Given the description of an element on the screen output the (x, y) to click on. 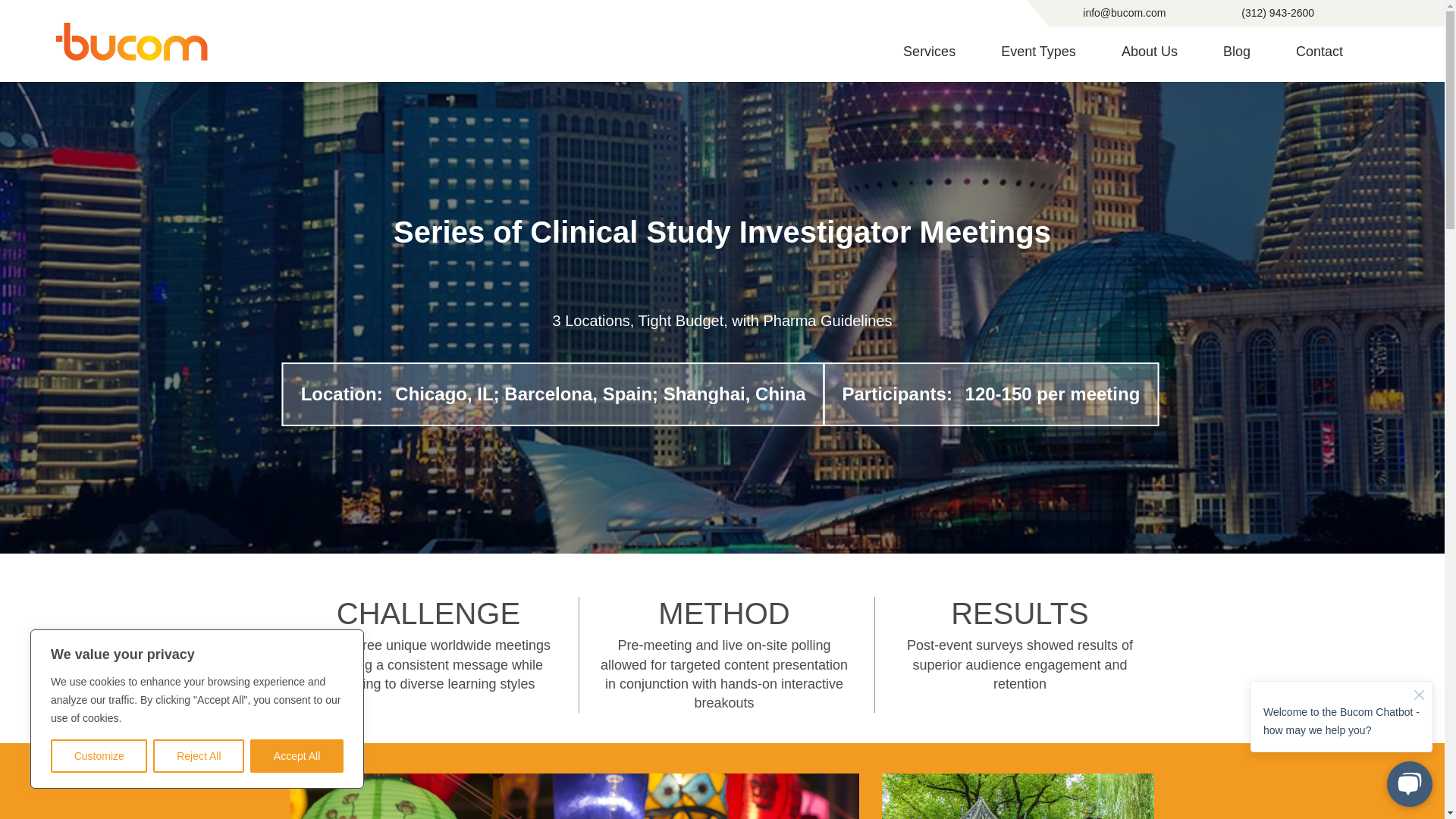
Customize (98, 756)
Accept All (296, 756)
Reject All (198, 756)
Services (928, 51)
